Given the description of an element on the screen output the (x, y) to click on. 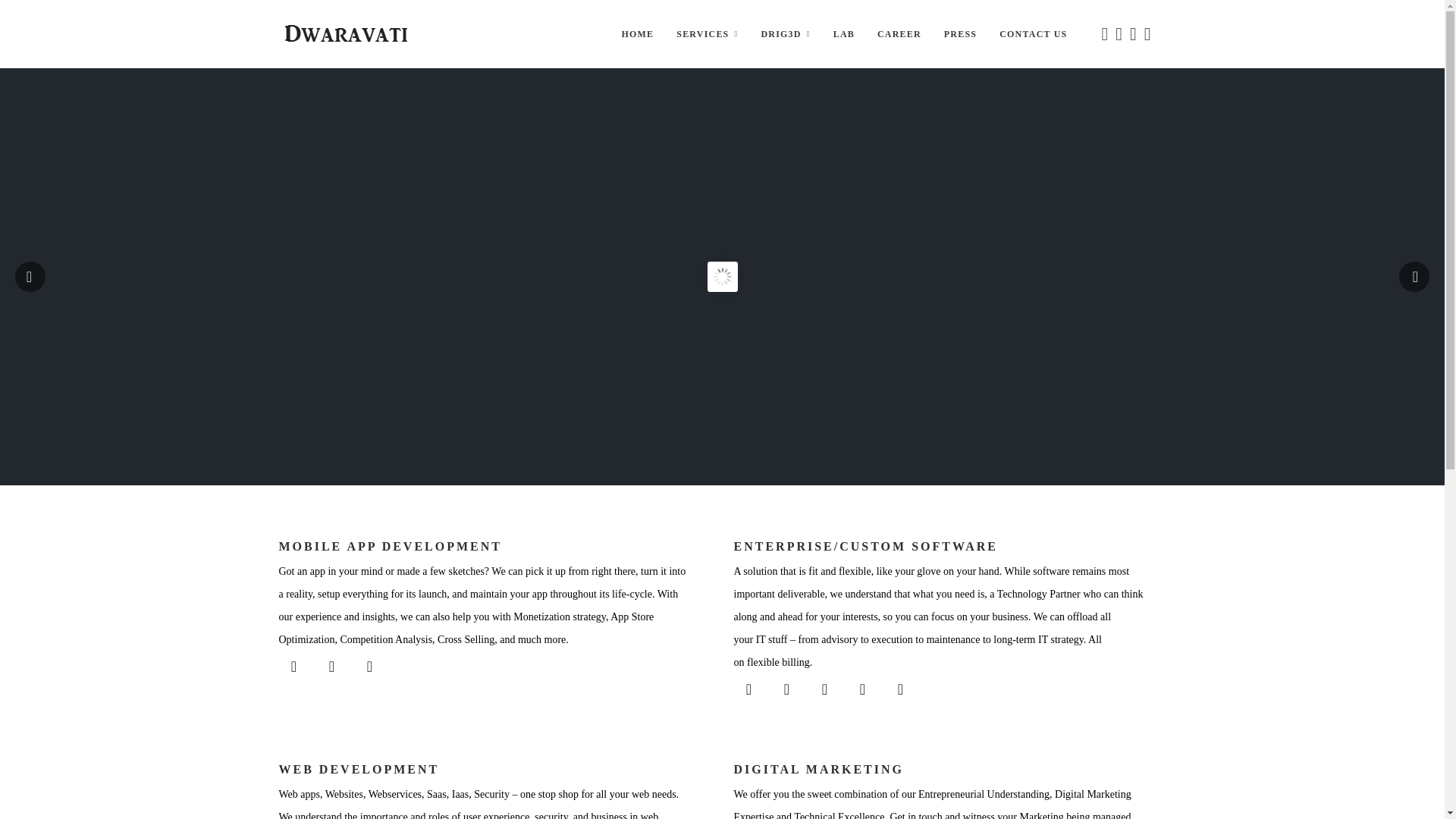
CONTACT US (1032, 33)
Dwaravati - high quality development (346, 33)
SERVICES (707, 33)
